Given the description of an element on the screen output the (x, y) to click on. 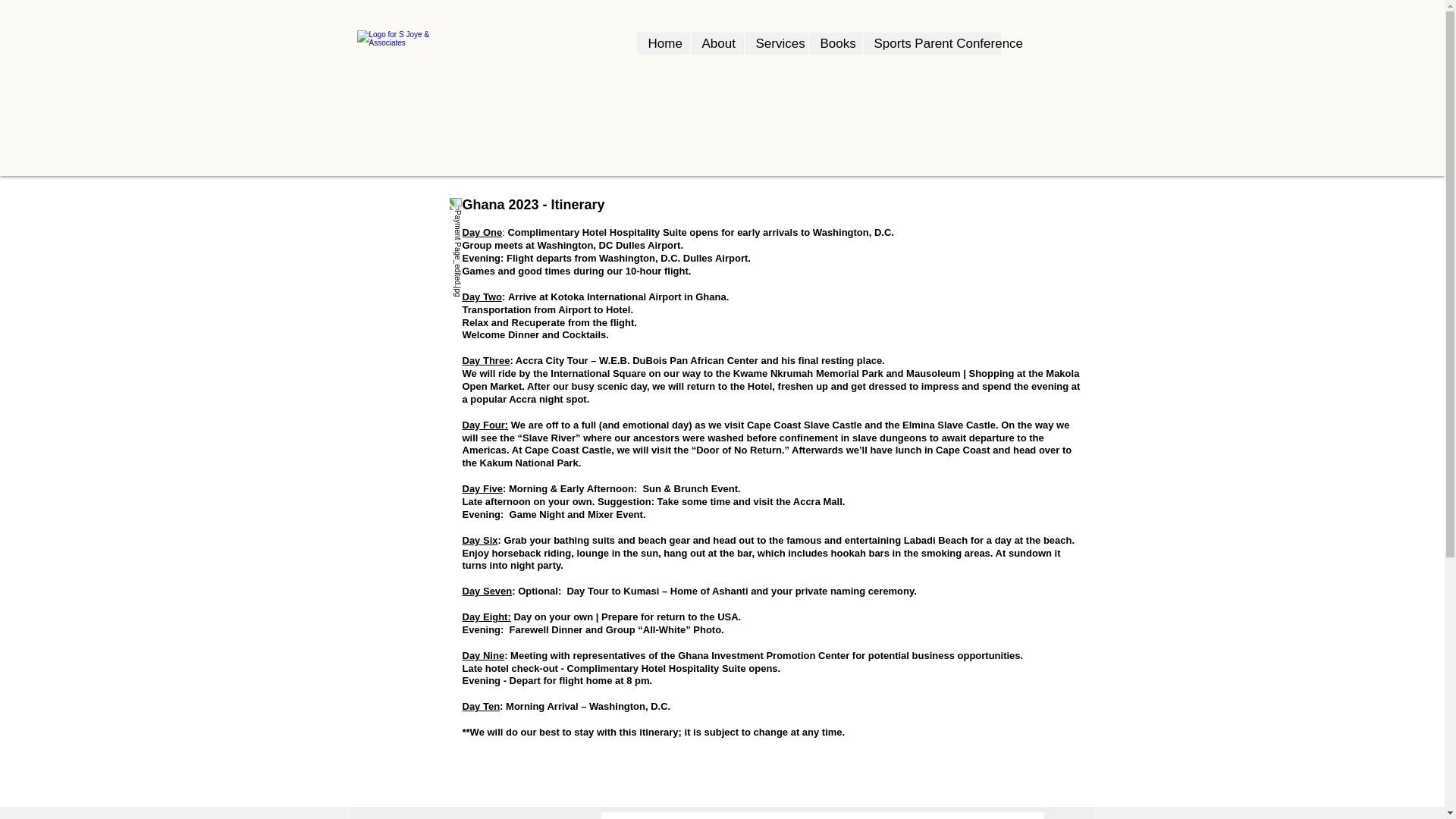
Services (775, 43)
Home (663, 43)
About (717, 43)
